Given the description of an element on the screen output the (x, y) to click on. 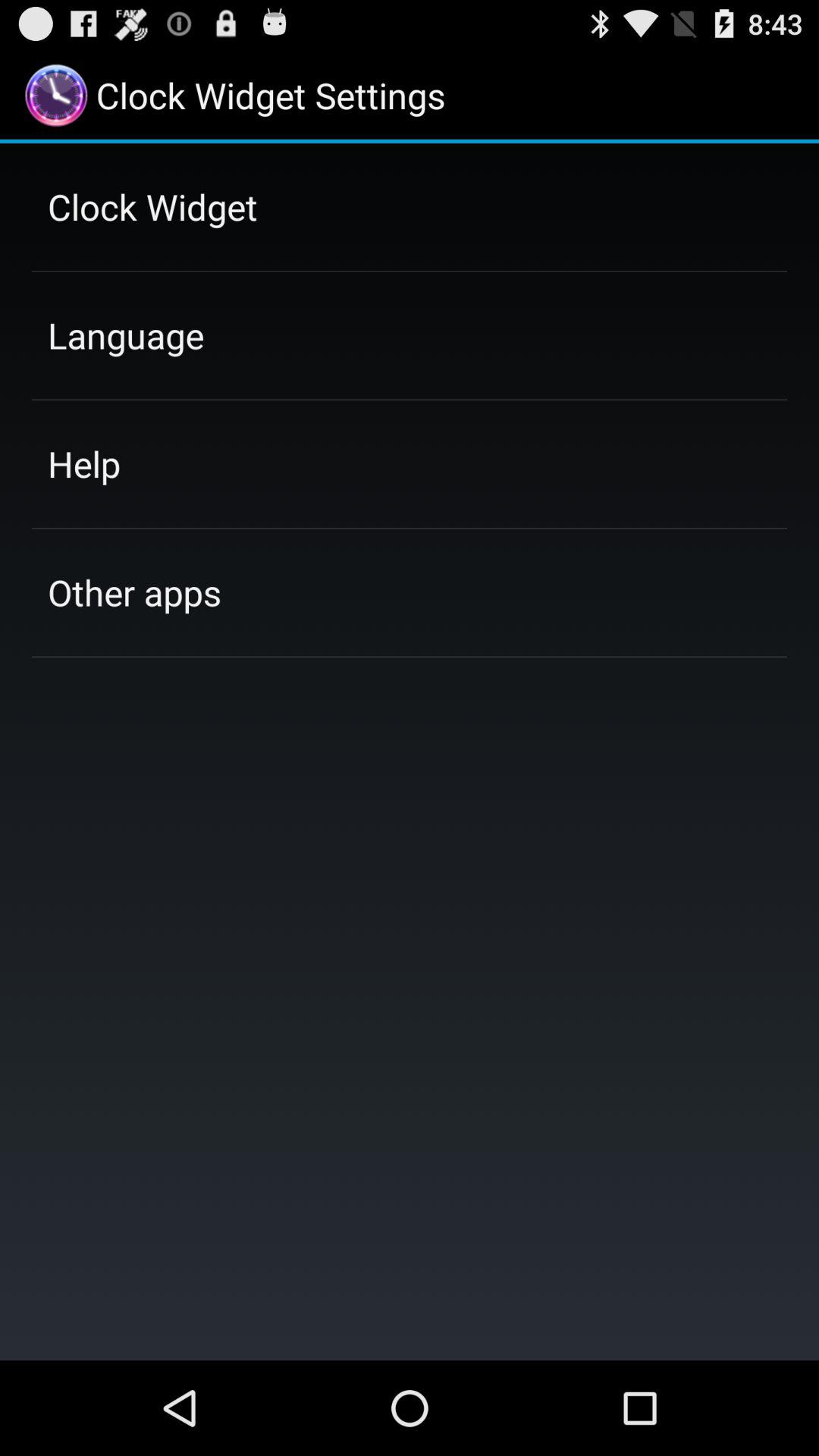
launch language (125, 335)
